Given the description of an element on the screen output the (x, y) to click on. 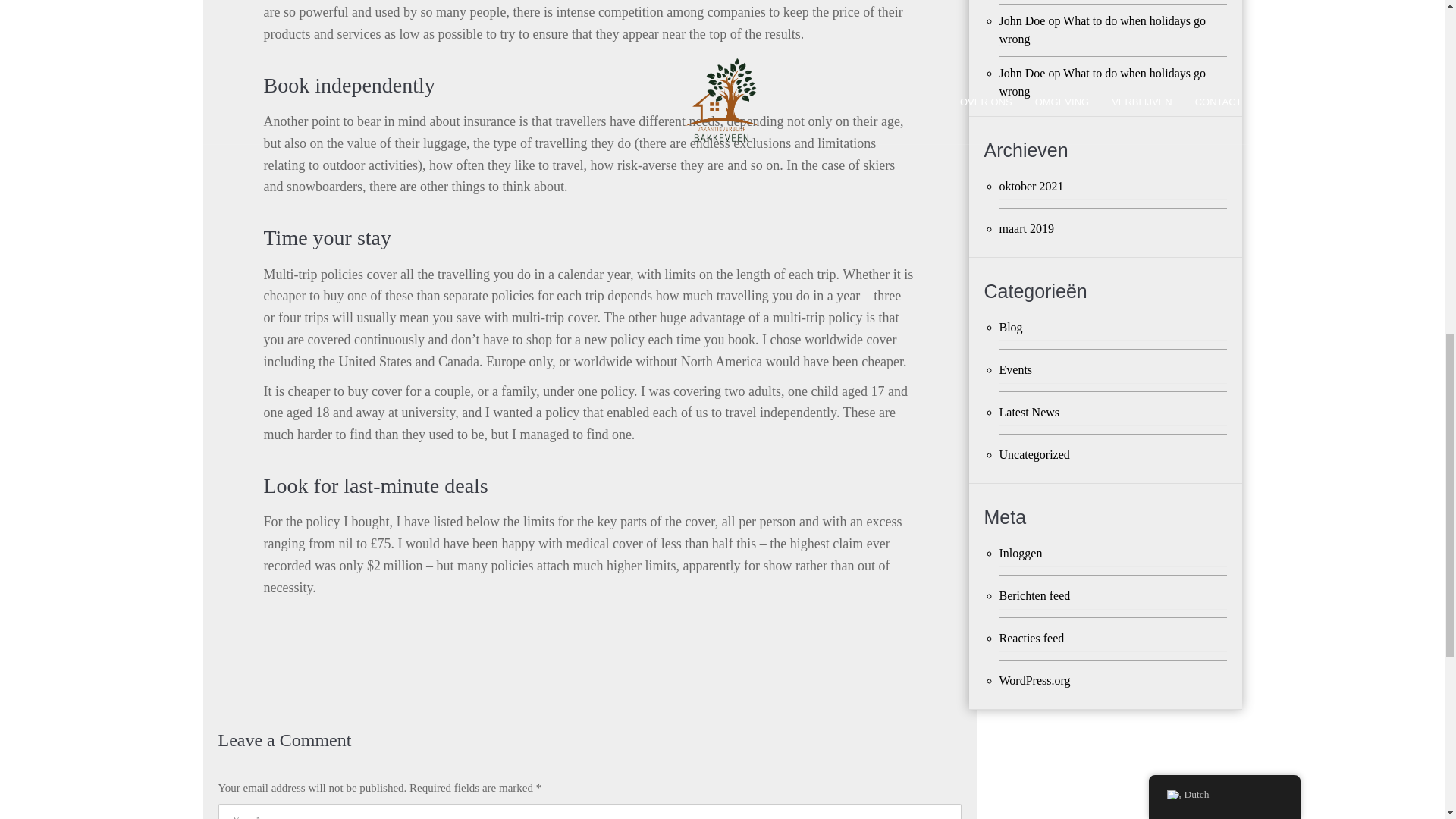
WordPress.org (1112, 680)
Latest News (1112, 412)
Events (1112, 370)
maart 2019 (1112, 228)
Uncategorized (1112, 454)
Inloggen (1112, 553)
What to do when holidays go wrong (1102, 81)
What to do when holidays go wrong (1102, 29)
oktober 2021 (1112, 186)
Reacties feed (1112, 638)
Blog (1112, 327)
Berichten feed (1112, 596)
